Given the description of an element on the screen output the (x, y) to click on. 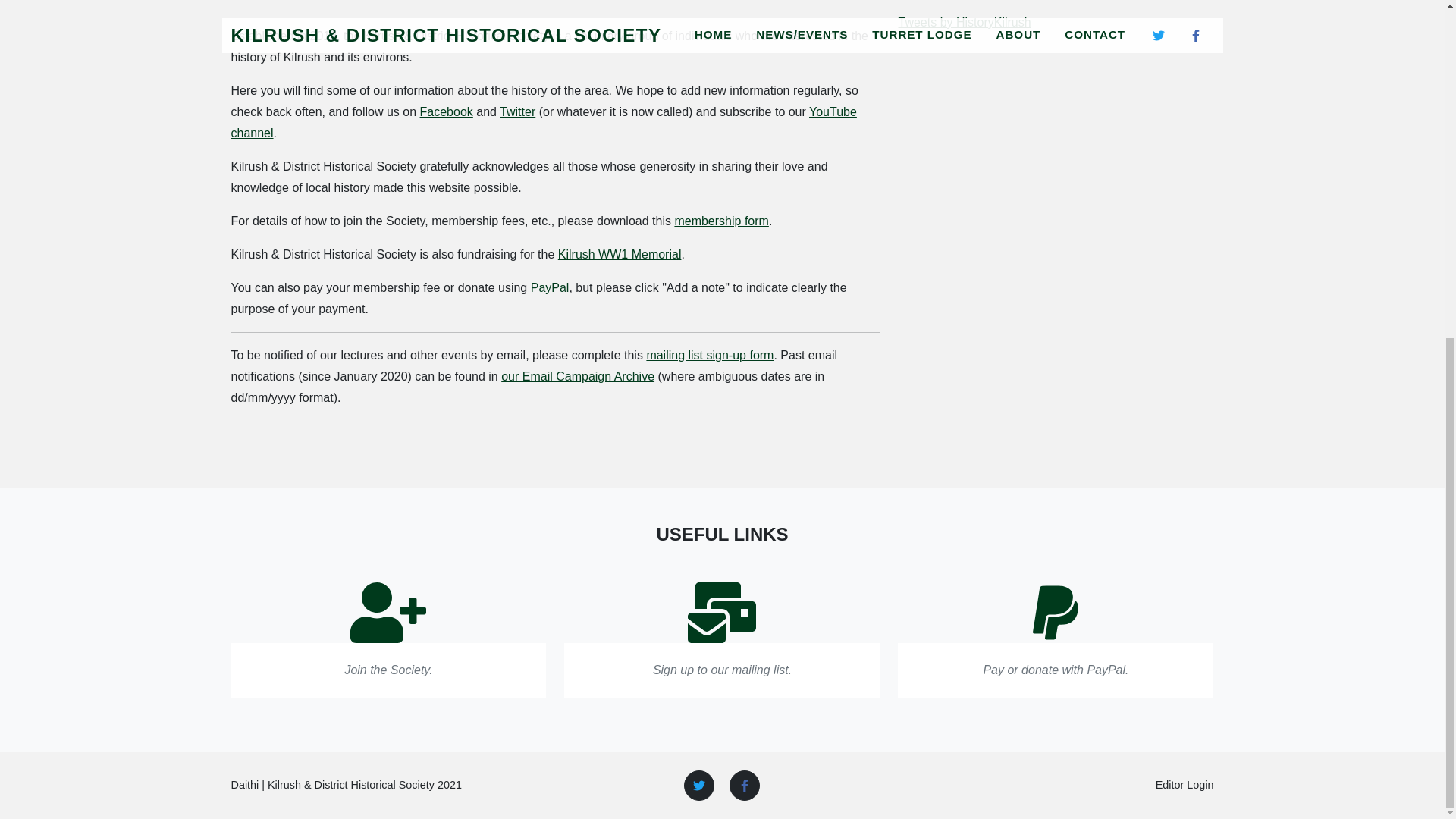
Facebook (446, 111)
KDHS YouTube channel (543, 122)
GoFundMe (619, 254)
Twitter (517, 111)
PayPal (550, 287)
Tweets by HistoryKilrush (964, 21)
Facebook (446, 111)
mailing list sign-up form (709, 354)
Editor Login (1185, 784)
Kilrush WW1 Memorial (619, 254)
